Given the description of an element on the screen output the (x, y) to click on. 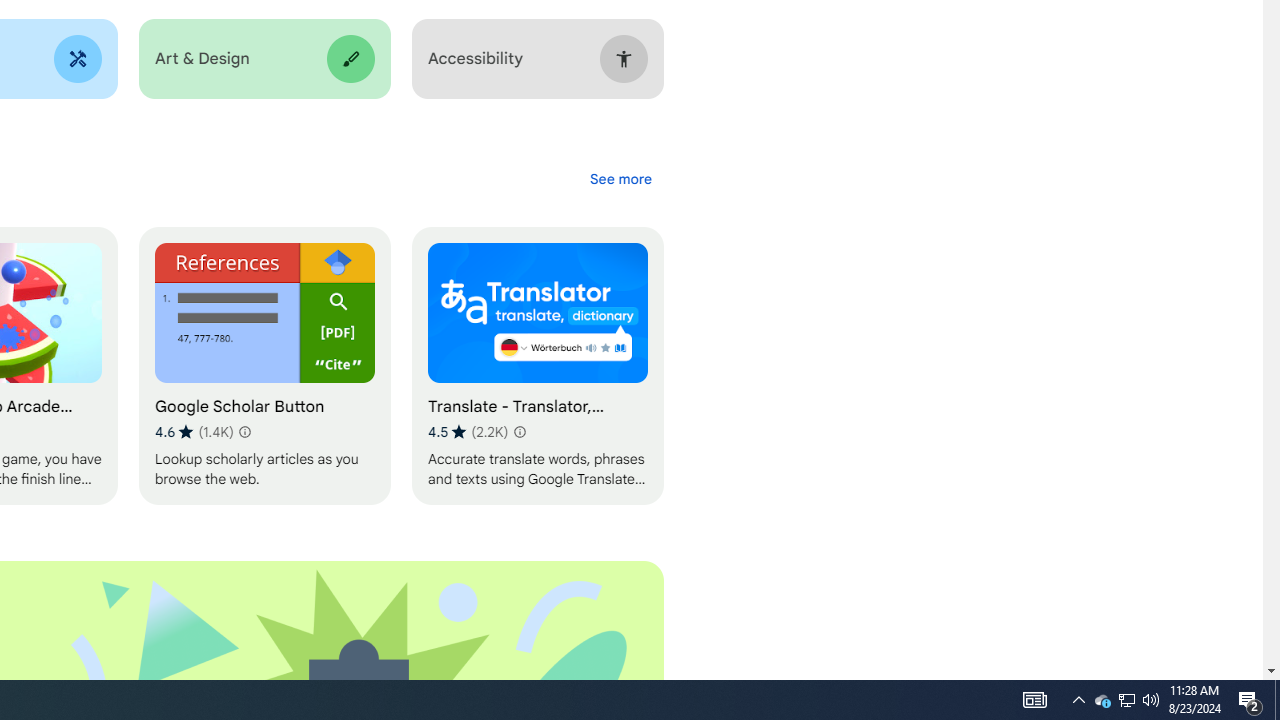
Google Scholar Button (264, 366)
Accessibility (537, 59)
Average rating 4.5 out of 5 stars. 2.2K ratings. (467, 431)
Translate - Translator, Dictionary, TTS (537, 366)
See more personalized recommendations (620, 178)
Average rating 4.6 out of 5 stars. 1.4K ratings. (193, 431)
Learn more about results and reviews "Google Scholar Button" (244, 431)
Art & Design (264, 59)
